Given the description of an element on the screen output the (x, y) to click on. 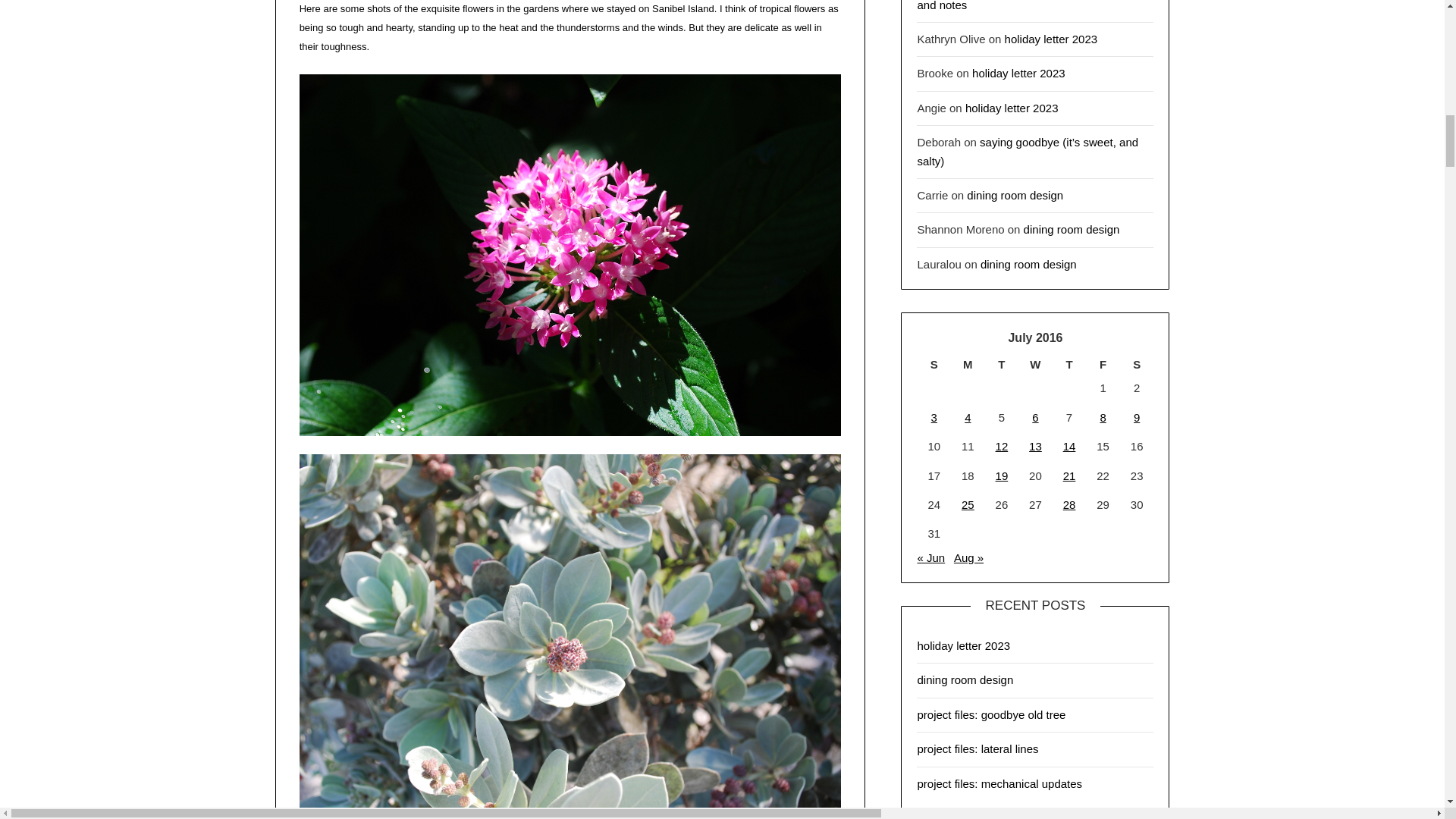
Friday (1102, 364)
Wednesday (1034, 364)
Thursday (1069, 364)
Sunday (933, 364)
Tuesday (1002, 364)
Saturday (1136, 364)
Monday (967, 364)
